Given the description of an element on the screen output the (x, y) to click on. 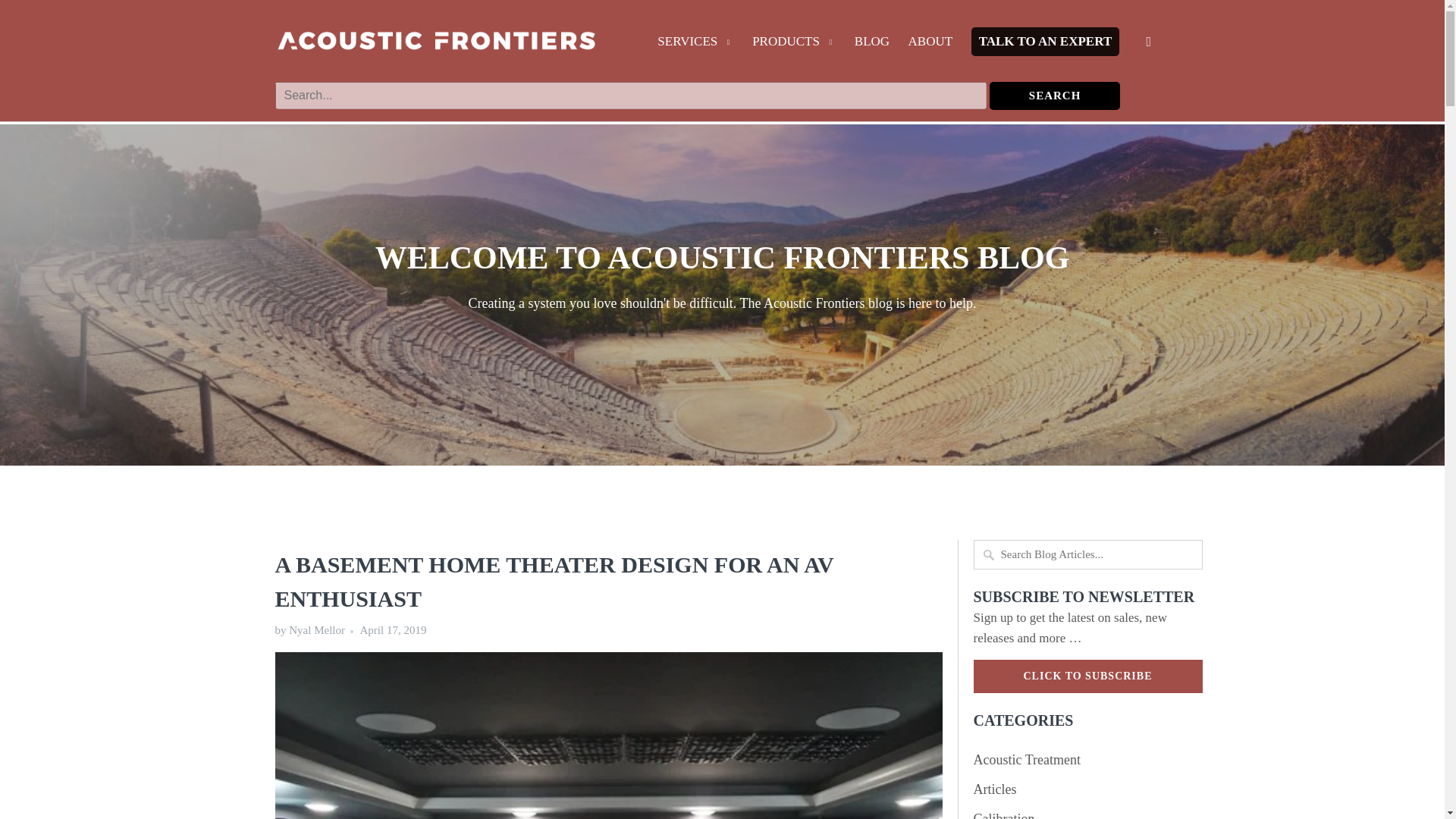
ABOUT (930, 45)
Click to Subscribe (1088, 676)
Acoustic Frontiers LLC (435, 47)
Cart (1150, 41)
SERVICES (695, 46)
BLOG (871, 45)
PRODUCTS (793, 46)
